Given the description of an element on the screen output the (x, y) to click on. 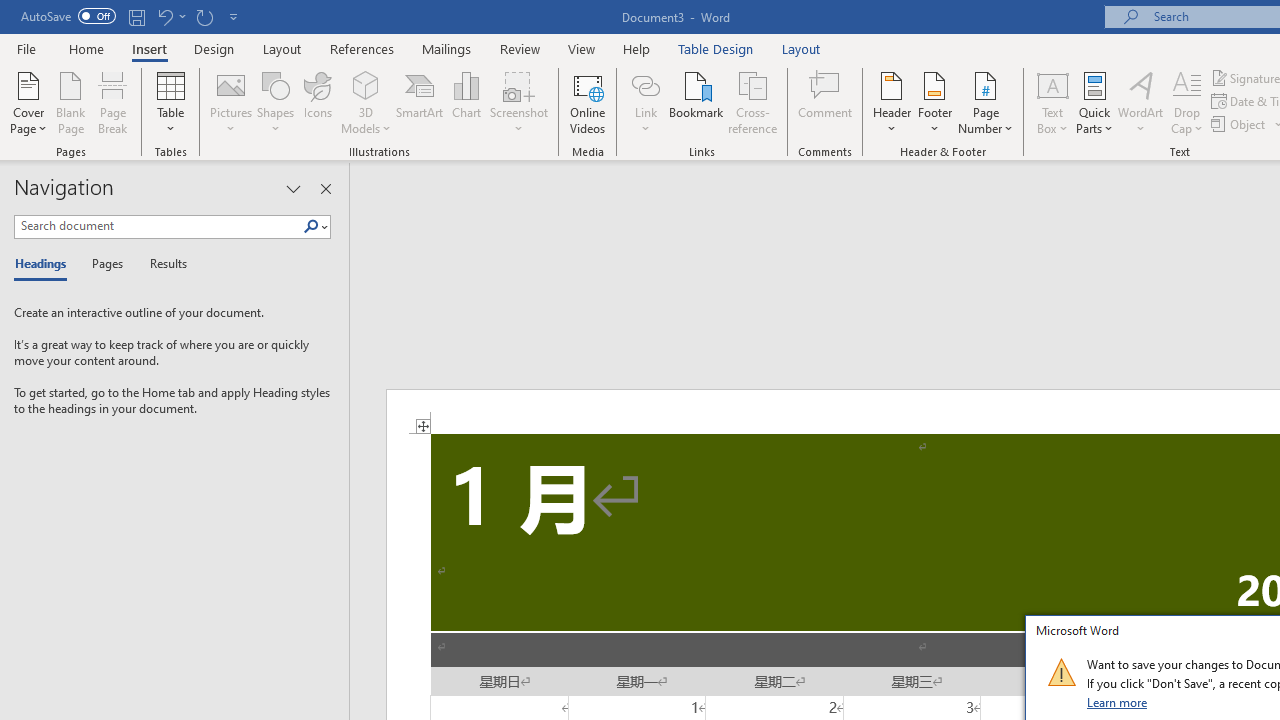
Table (170, 102)
Screenshot (518, 102)
Text Box (1052, 102)
Chart... (466, 102)
Quick Parts (1094, 102)
Header (891, 102)
